Given the description of an element on the screen output the (x, y) to click on. 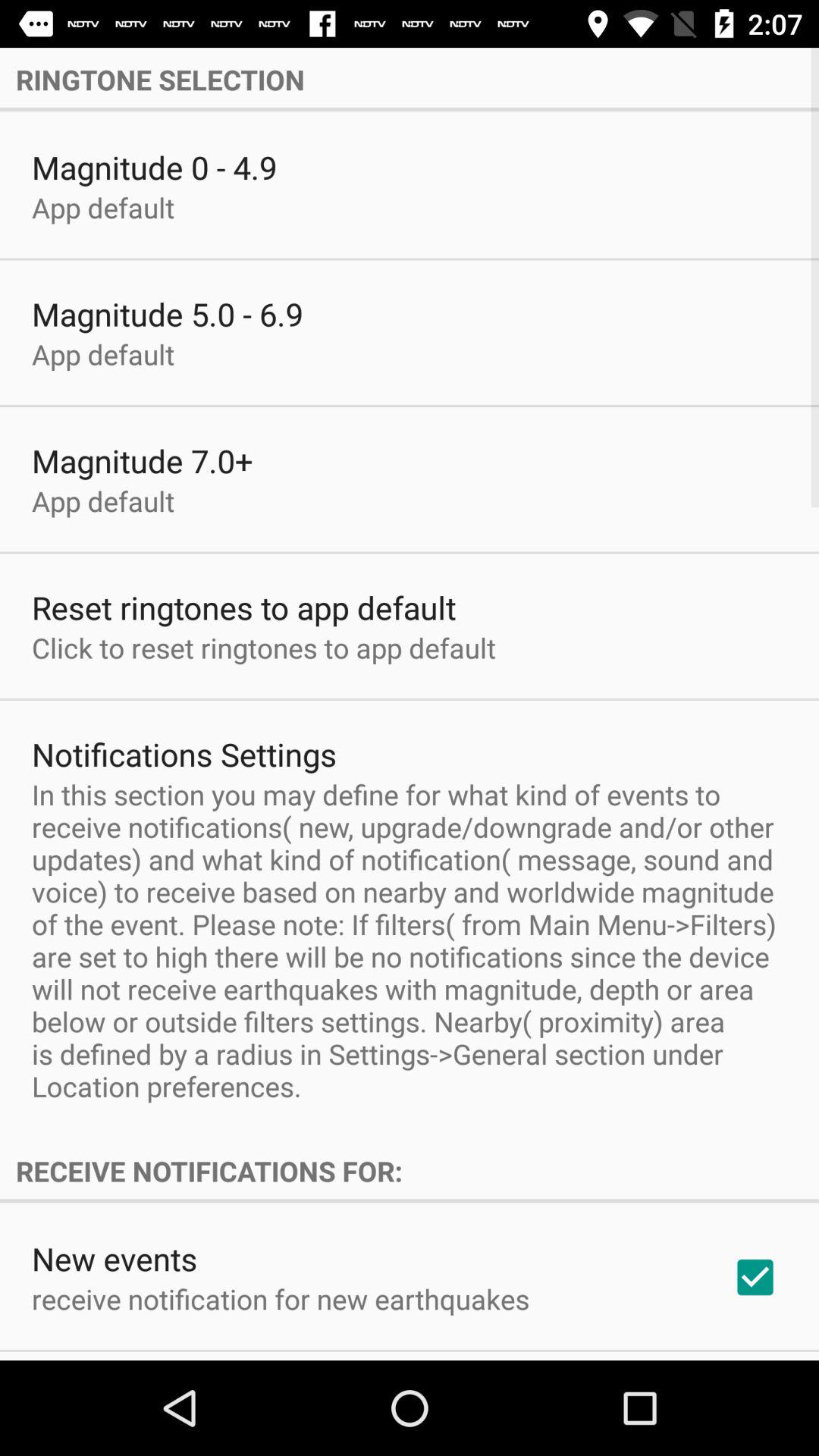
choose the app above receive notifications for: icon (409, 940)
